Given the description of an element on the screen output the (x, y) to click on. 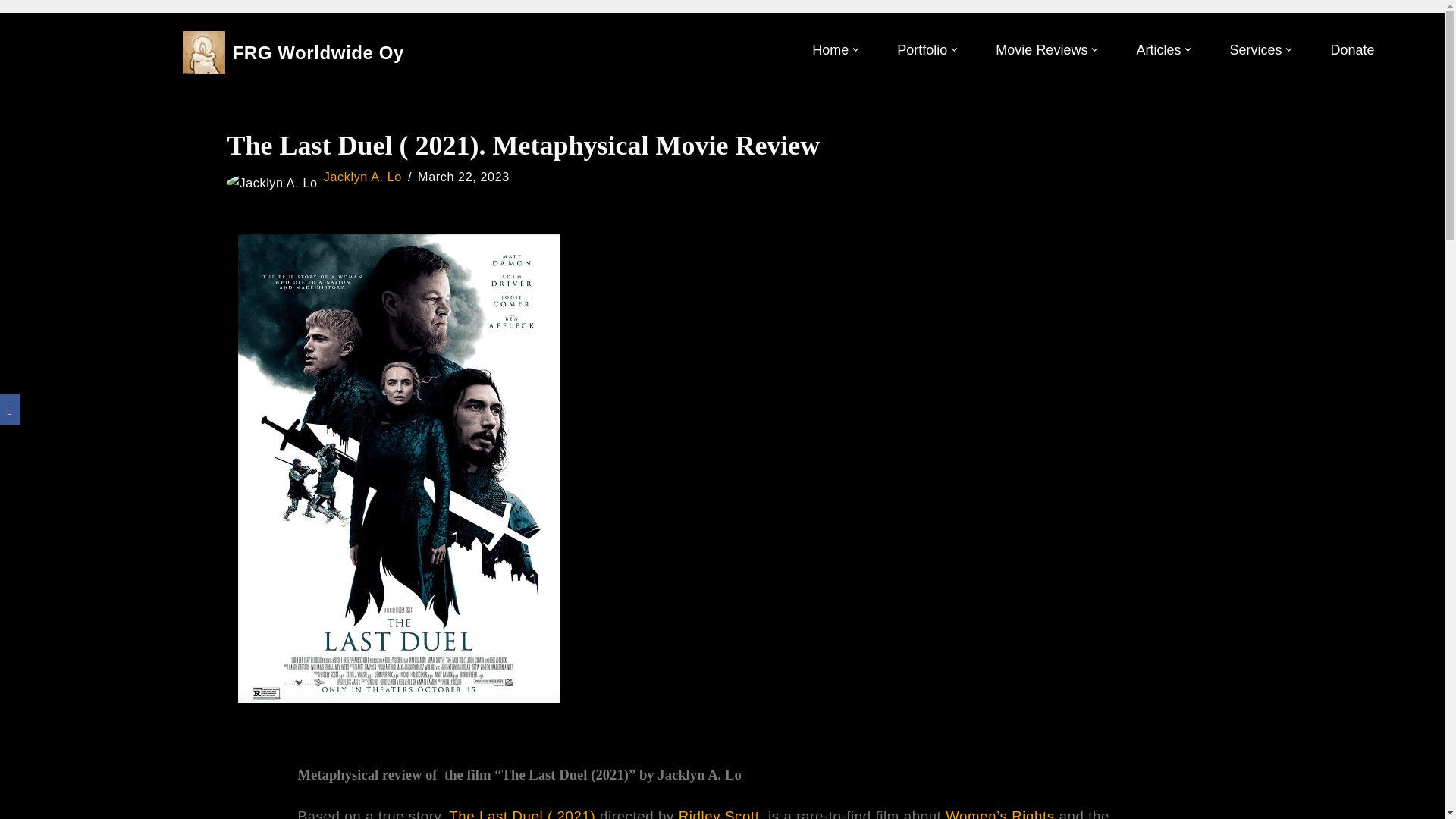
Articles (1157, 49)
Skip to content (11, 31)
Posts by Jacklyn A. Lo (362, 176)
FRG Worldwide Oy (293, 52)
Portfolio (921, 49)
Home (830, 49)
Movie Reviews (1041, 49)
